Given the description of an element on the screen output the (x, y) to click on. 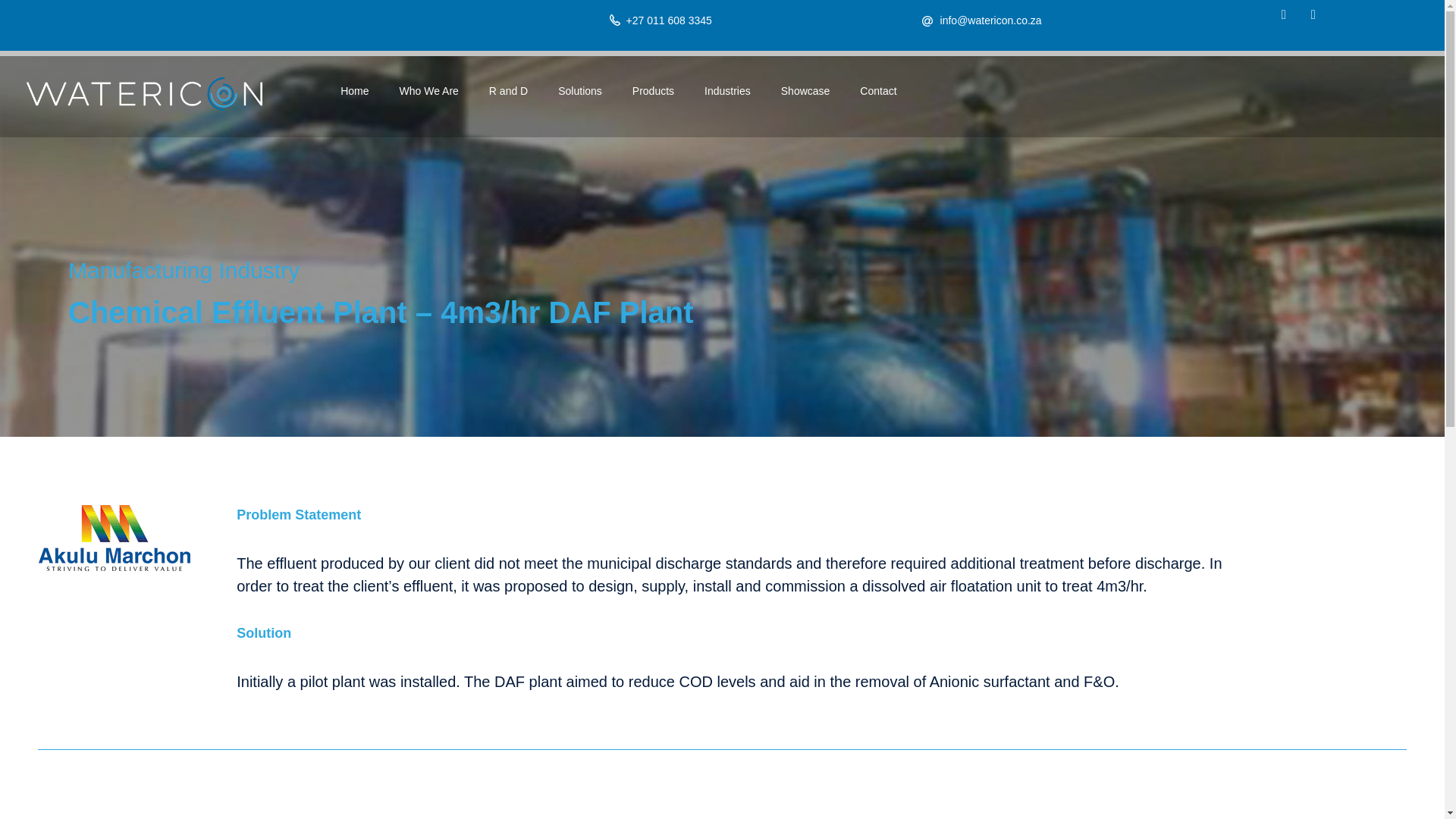
Showcase (805, 90)
Contact (877, 90)
R and D (508, 90)
Who We Are (429, 90)
Products (652, 90)
Home (354, 90)
Solutions (580, 90)
Industries (726, 90)
